Given the description of an element on the screen output the (x, y) to click on. 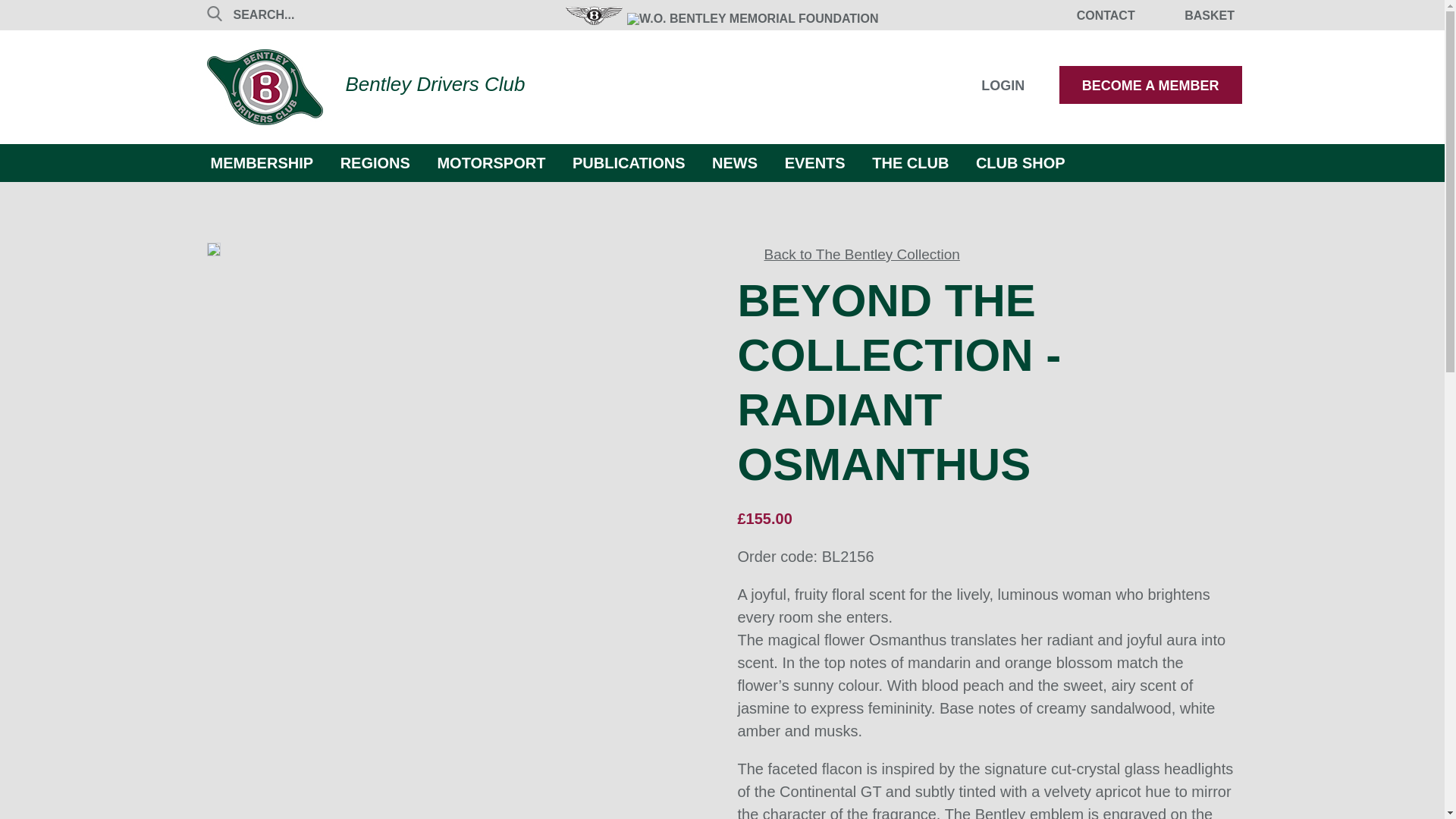
Bentley Drivers Club (365, 87)
MOTORSPORT (490, 161)
Search (367, 13)
View your shopping basket (1199, 13)
SEARCH... (367, 13)
Membership (261, 161)
Regions (374, 161)
Bentley Drivers Club (365, 87)
Login (991, 85)
Contact (1106, 15)
